Given the description of an element on the screen output the (x, y) to click on. 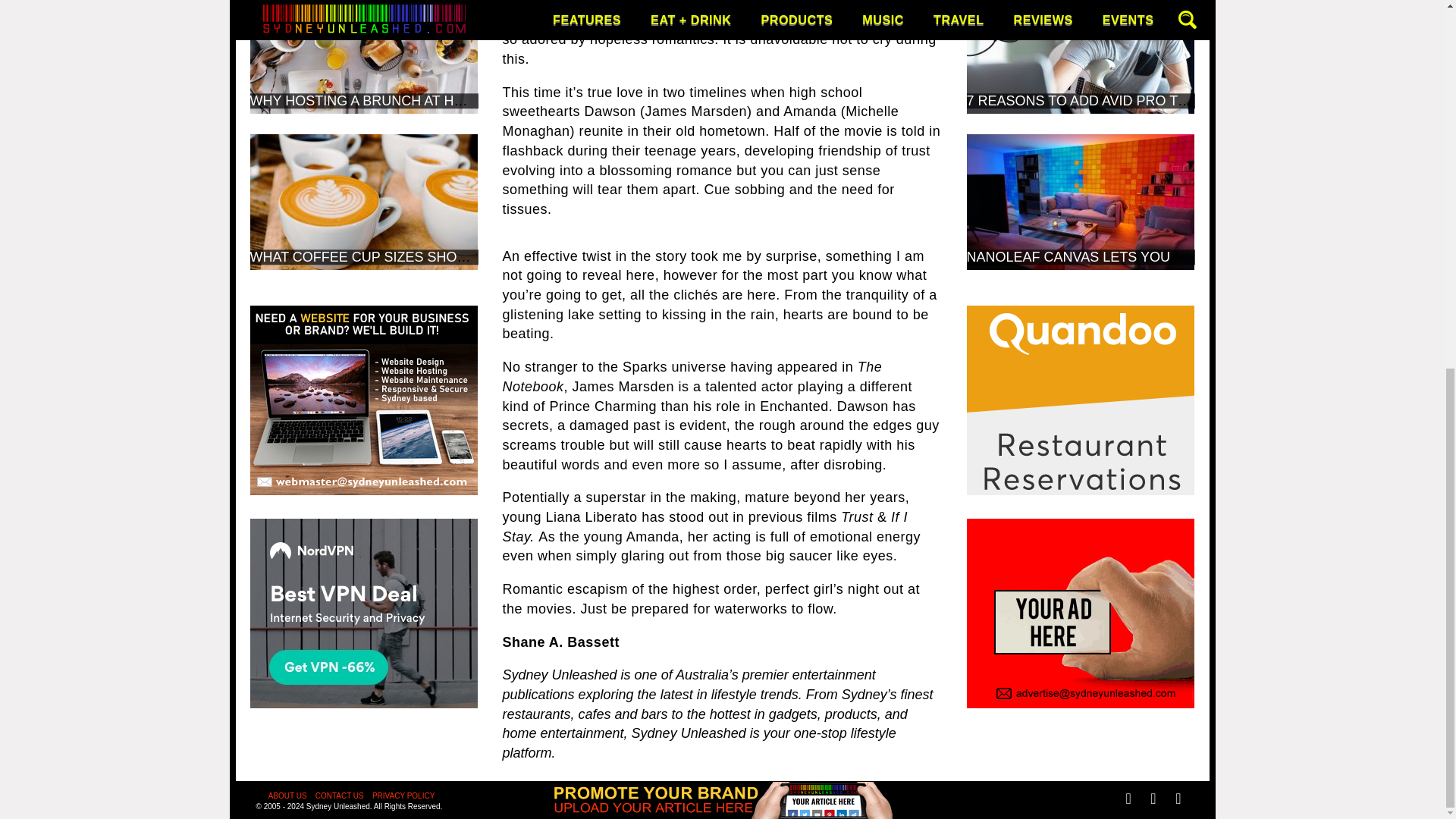
Upload Your Featured Post (721, 147)
WHY HOSTING A BRUNCH AT HOME CAN BE THE PERFECT GET-TOGETHER (499, 100)
WHAT COFFEE CUP SIZES SHOULD YOU HAVE ON OFFER (440, 256)
